Given the description of an element on the screen output the (x, y) to click on. 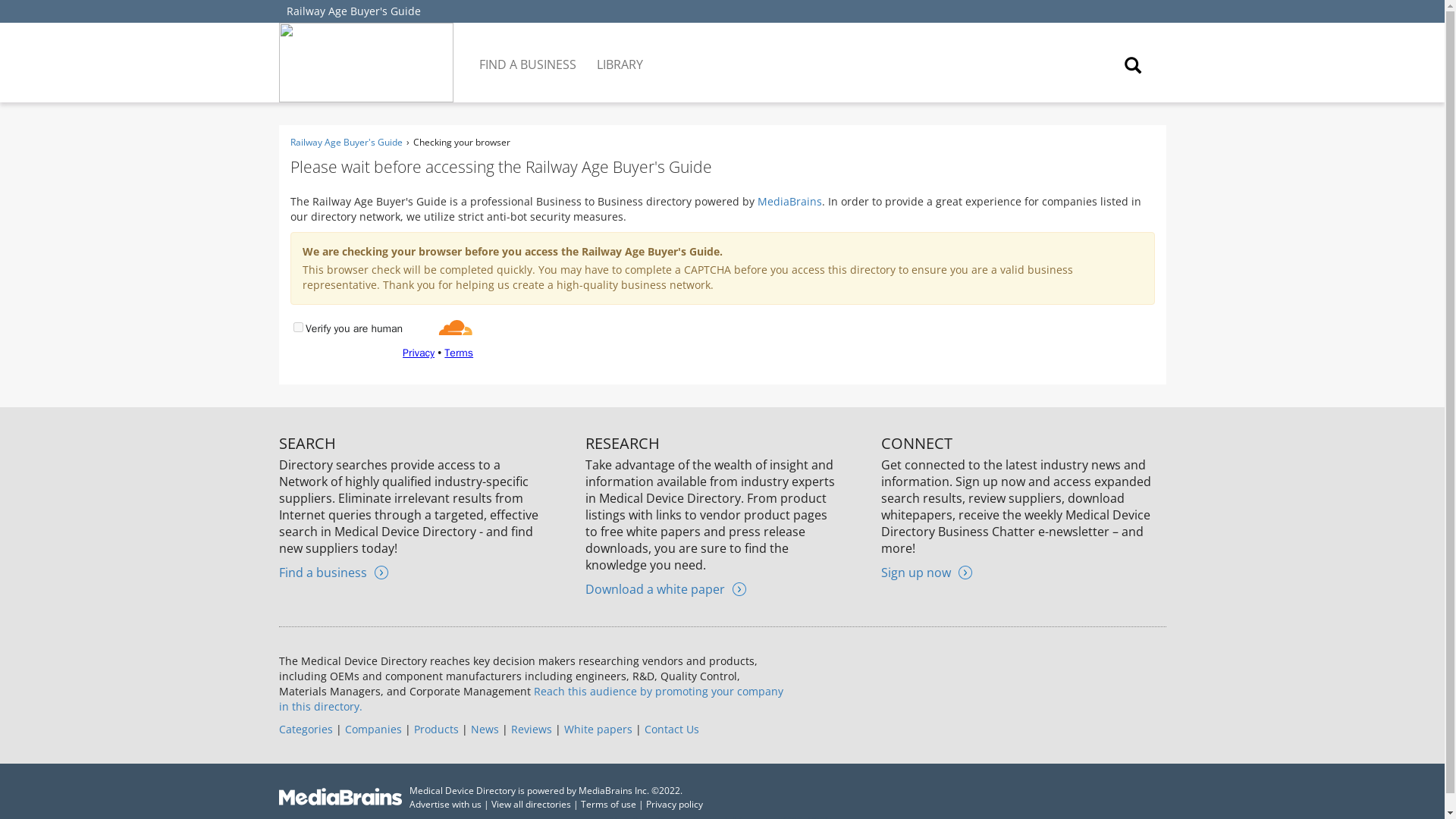
Categories (306, 728)
Railway Age Buyer's Guide (353, 11)
LIBRARY (620, 52)
Find a business (333, 572)
View all directories (531, 803)
News (483, 728)
Terms of use (608, 803)
MediaBrains (789, 201)
Companies (372, 728)
Contact Us (671, 728)
Download a white paper (665, 588)
White papers (597, 728)
Railway Age Buyer's Guide (345, 141)
Products (435, 728)
